Given the description of an element on the screen output the (x, y) to click on. 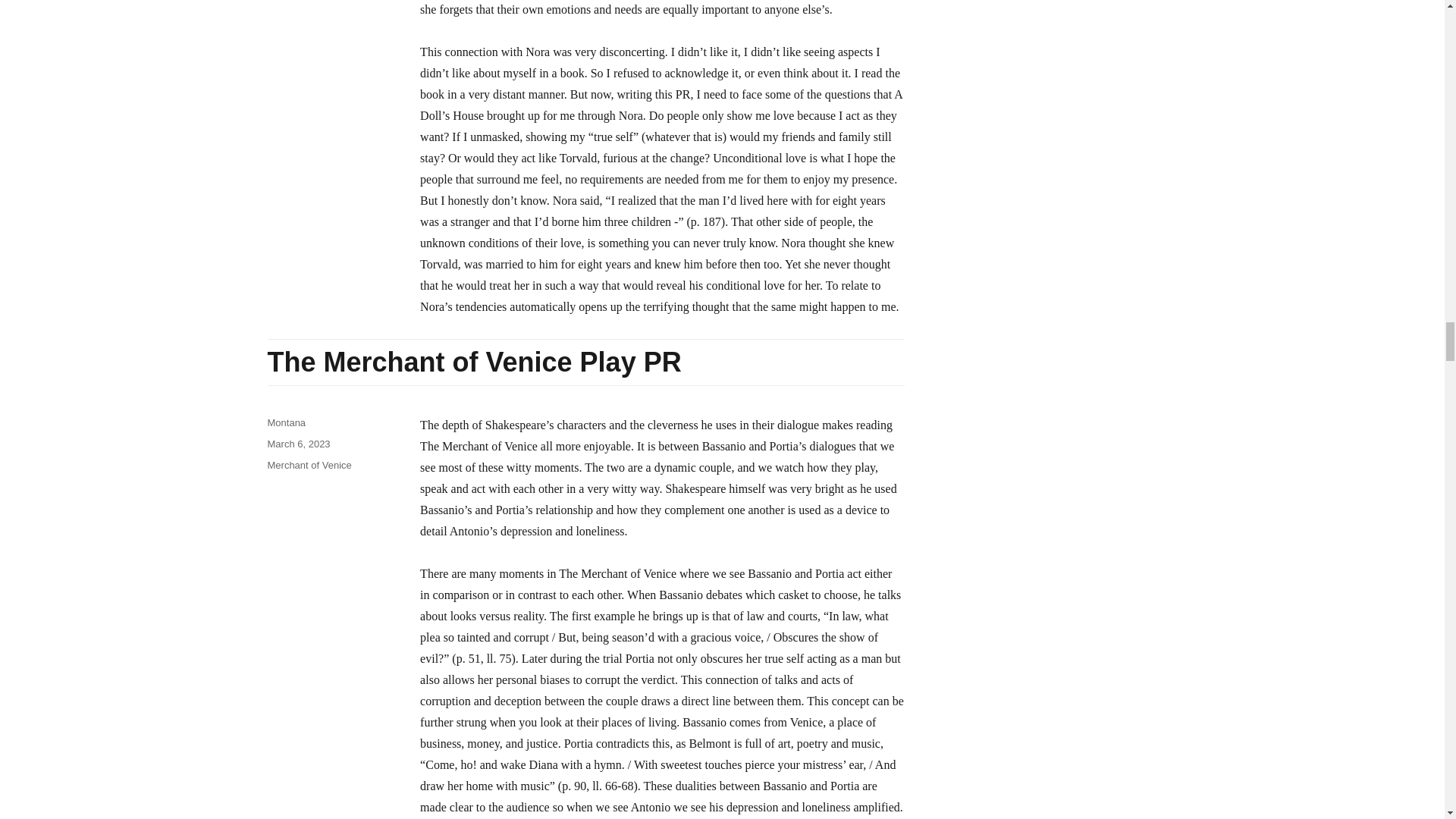
Montana (285, 422)
The Merchant of Venice Play PR (473, 361)
Merchant of Venice (308, 464)
March 6, 2023 (298, 443)
